Given the description of an element on the screen output the (x, y) to click on. 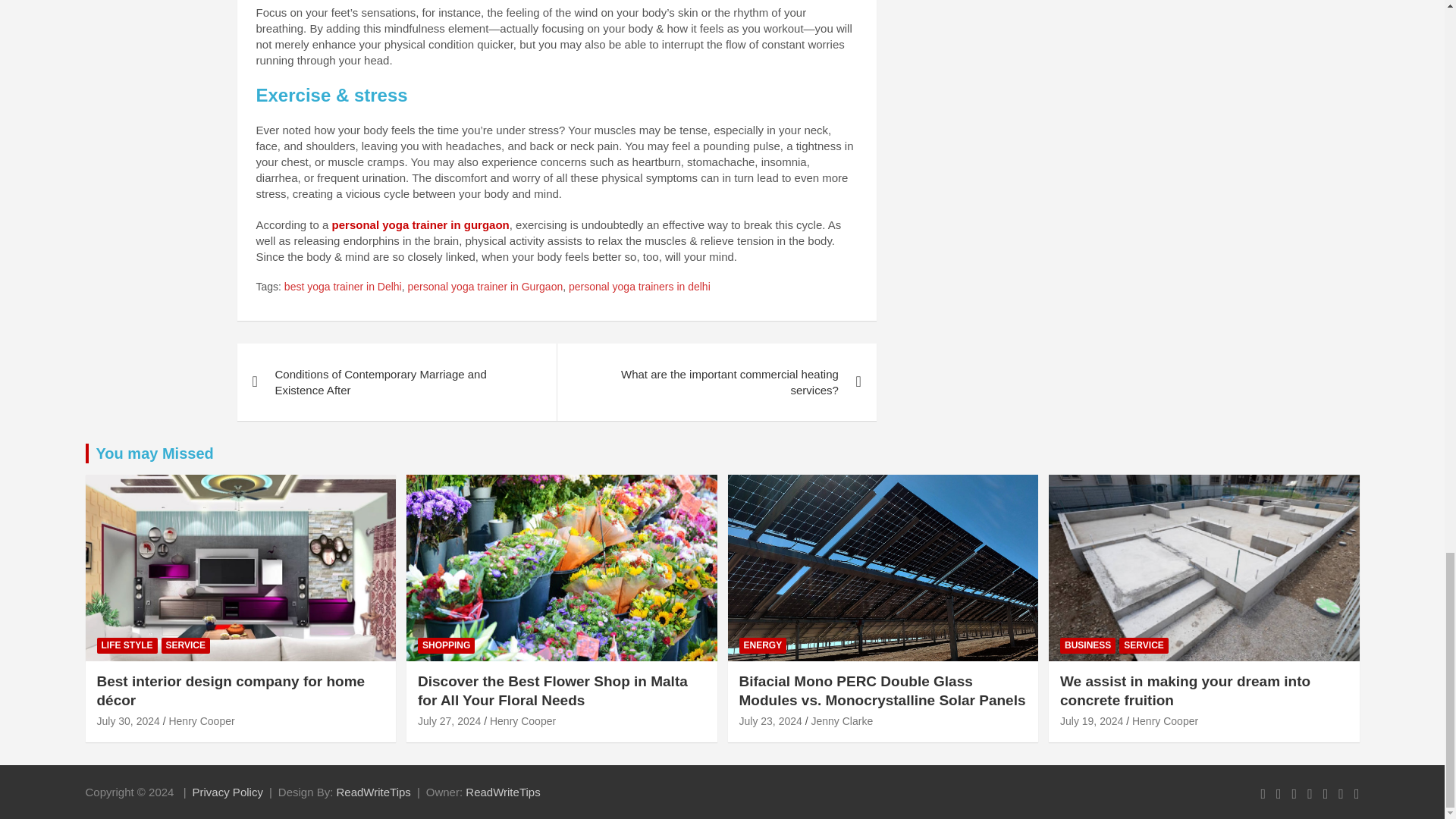
We assist in making your dream into concrete fruition (1090, 720)
ReadWriteTips (502, 791)
ReadWriteTips (373, 791)
